Given the description of an element on the screen output the (x, y) to click on. 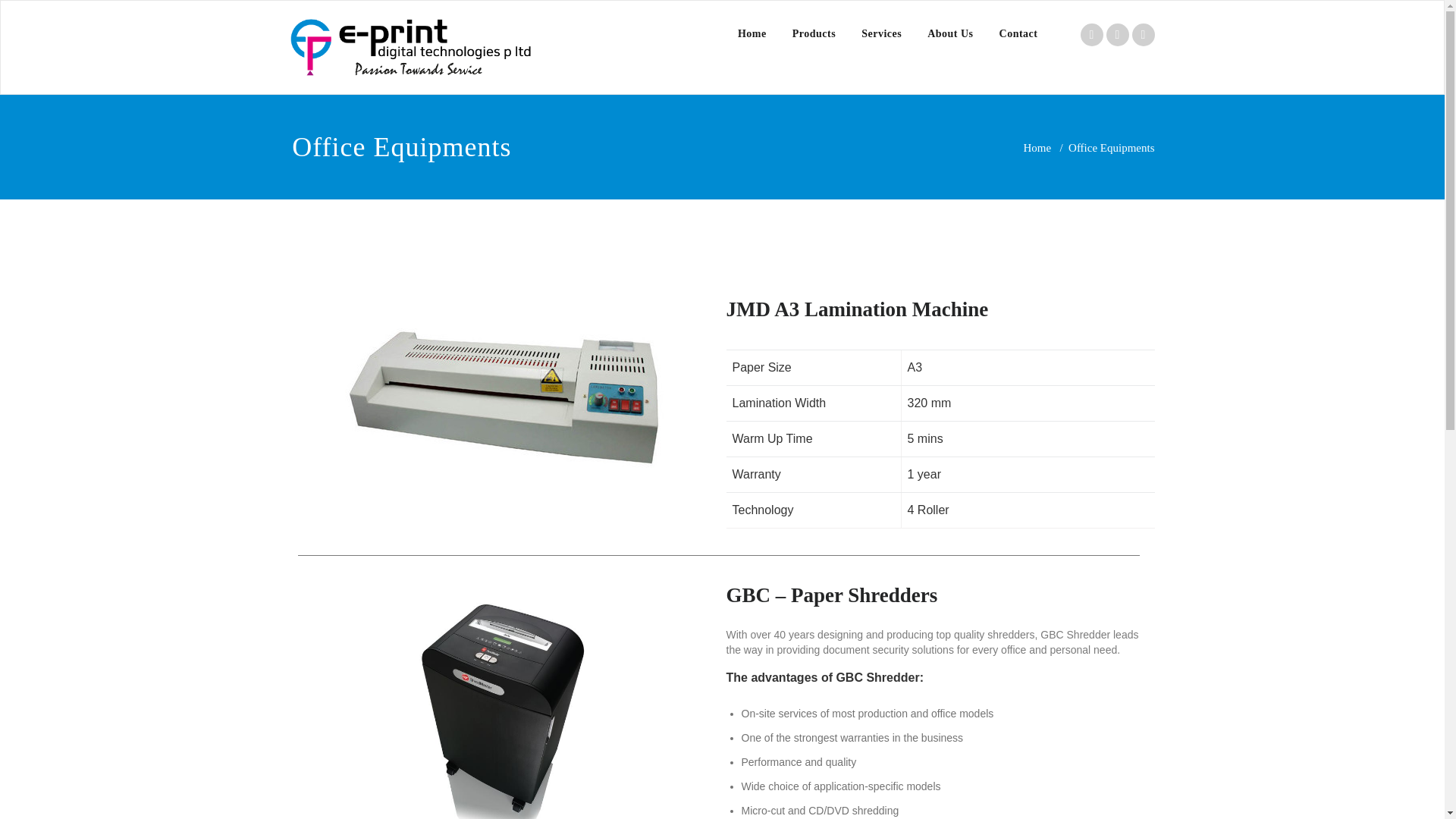
Home (751, 33)
Contact (1019, 33)
Home (1037, 147)
Services (881, 33)
Products (813, 33)
About Us (949, 33)
